Given the description of an element on the screen output the (x, y) to click on. 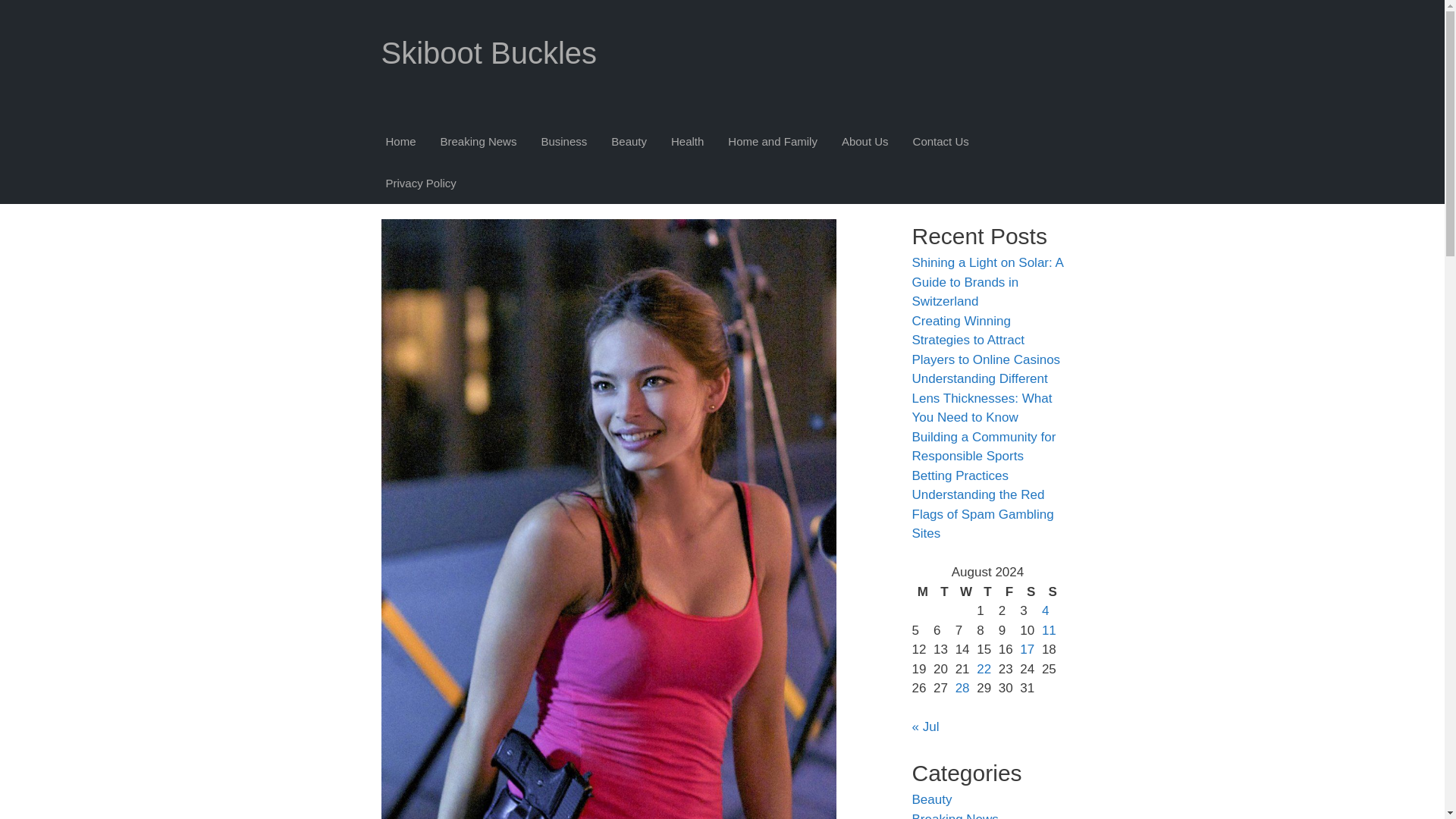
11 (1049, 630)
Breaking News (478, 141)
Friday (1009, 591)
Sunday (1053, 591)
Beauty (628, 141)
Home (399, 141)
Home and Family (772, 141)
22 (983, 667)
